Given the description of an element on the screen output the (x, y) to click on. 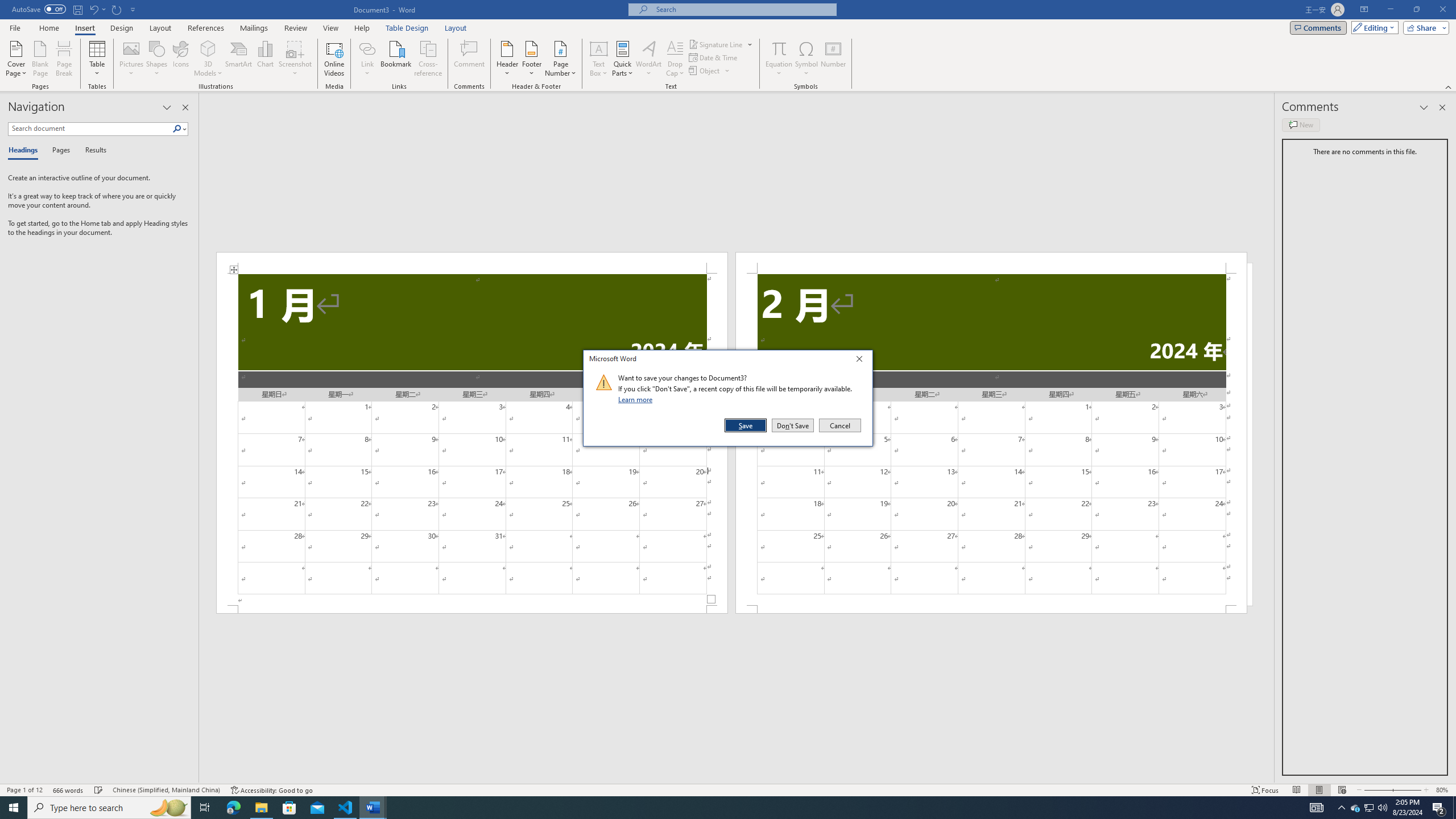
Running applications (717, 807)
Text Box (598, 58)
Microsoft Store (289, 807)
Quick Parts (622, 58)
Shapes (156, 58)
Footer -Section 1- (471, 609)
Microsoft search (742, 9)
Footer (531, 58)
